Given the description of an element on the screen output the (x, y) to click on. 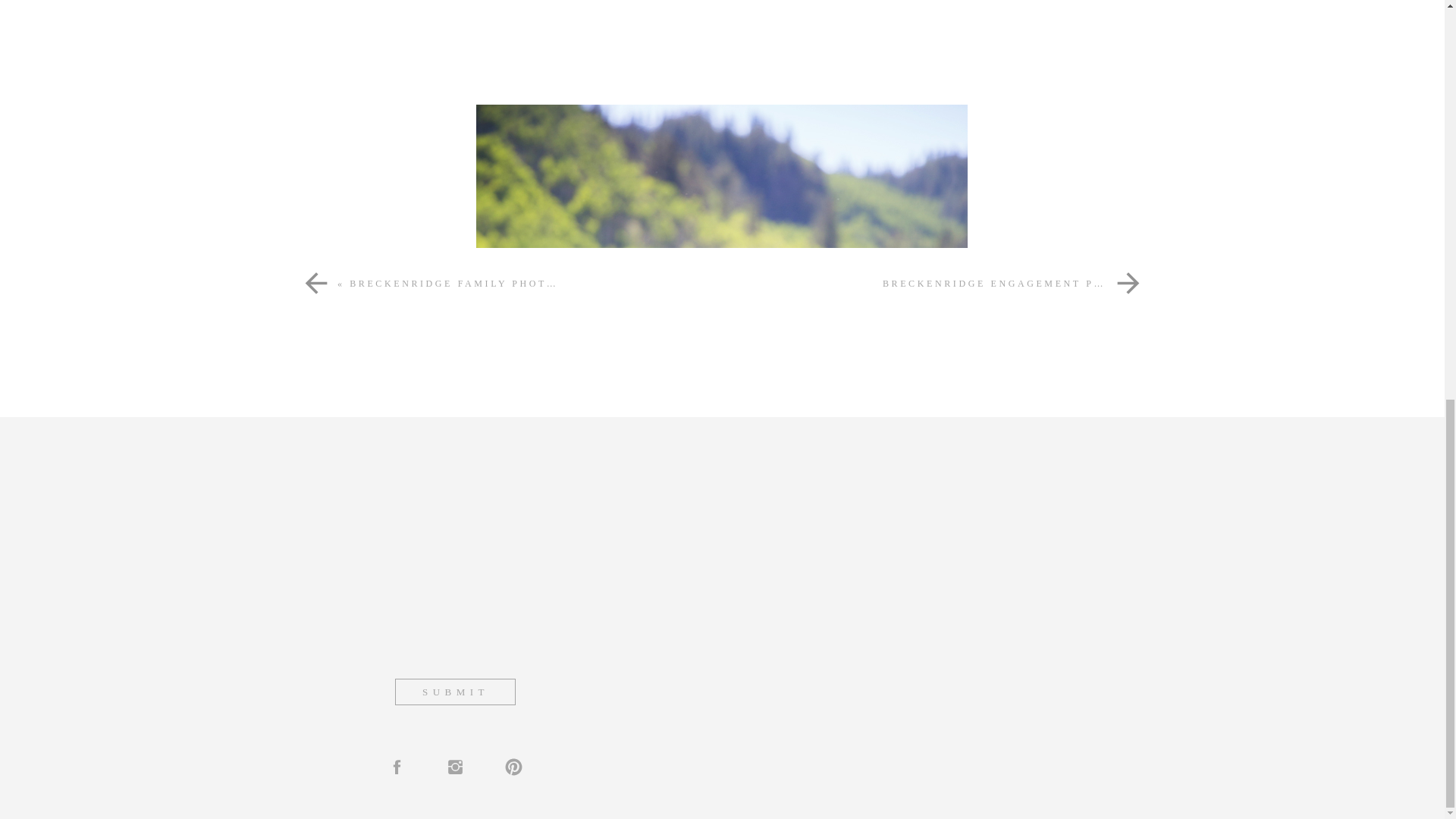
SUBMIT (455, 692)
